Given the description of an element on the screen output the (x, y) to click on. 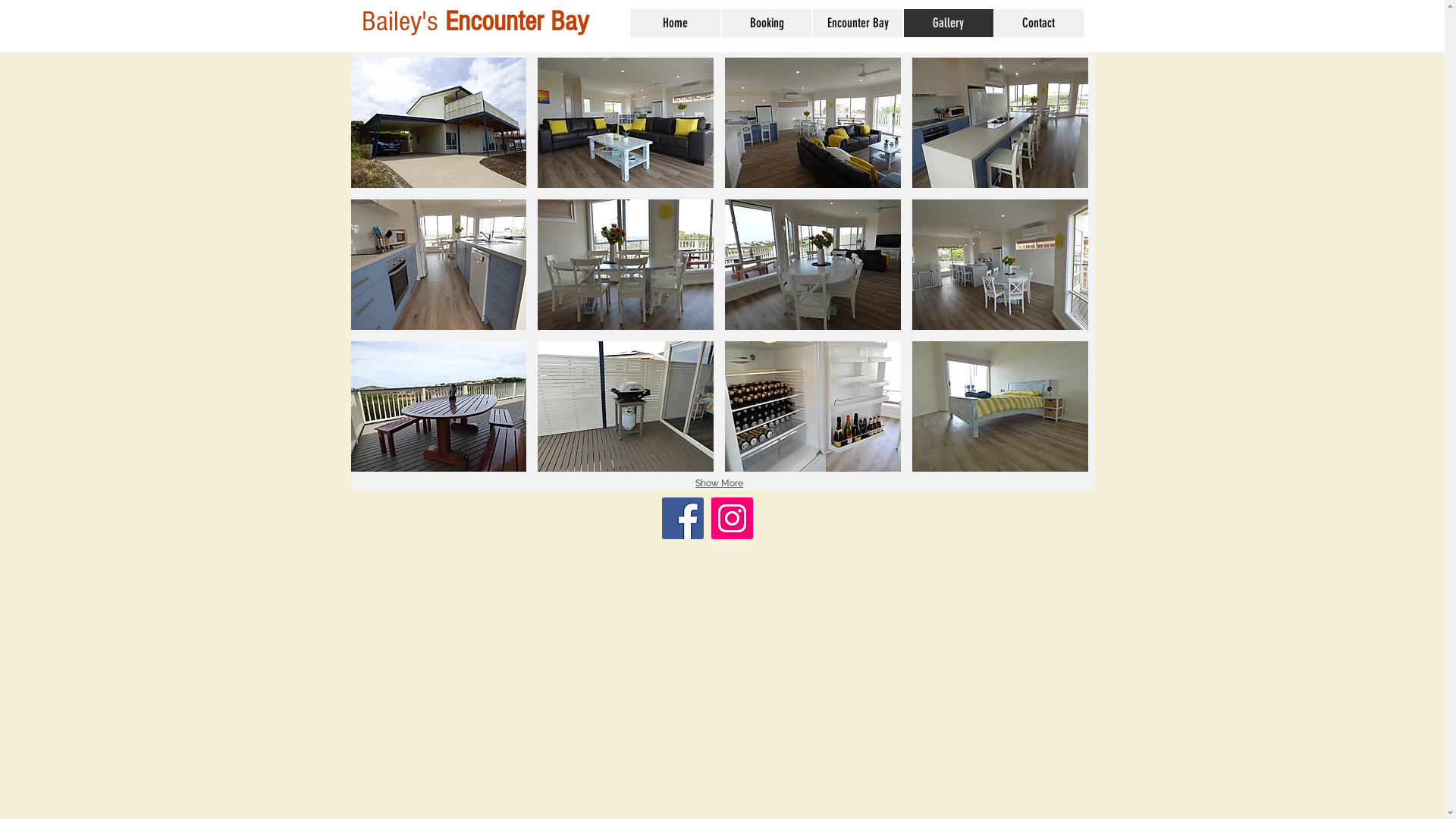
Encounter Bay Element type: text (856, 23)
Gallery Element type: text (947, 23)
Home Element type: text (674, 23)
Show More Element type: text (718, 483)
Contact Element type: text (1038, 23)
Booking Element type: text (765, 23)
